Given the description of an element on the screen output the (x, y) to click on. 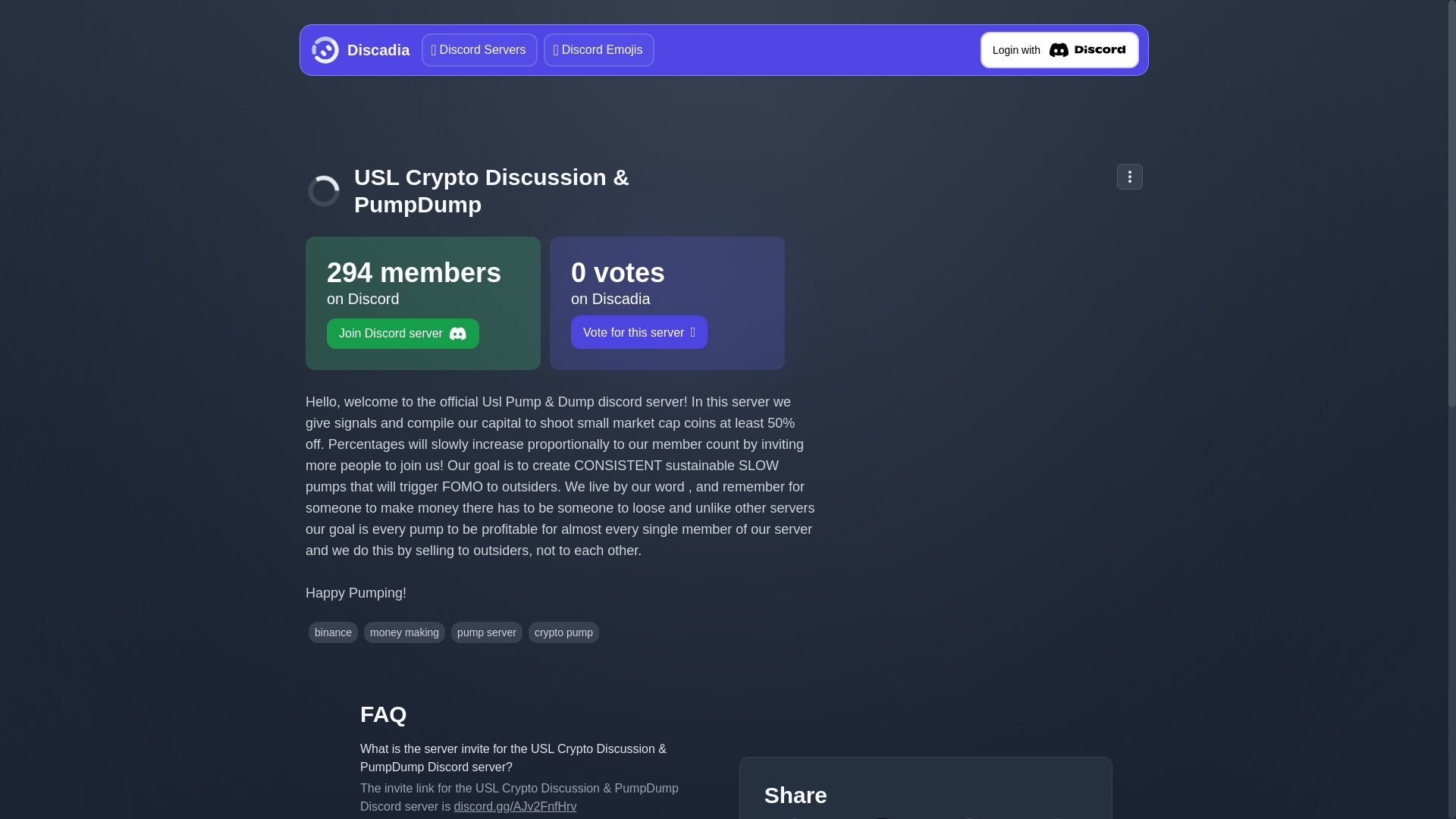
Facebook (667, 303)
Reddit (794, 818)
crypto pump (969, 818)
binance (563, 631)
Discord Servers (333, 631)
Discadia (479, 49)
X (357, 49)
Login with (881, 818)
pump server (1058, 49)
